Given the description of an element on the screen output the (x, y) to click on. 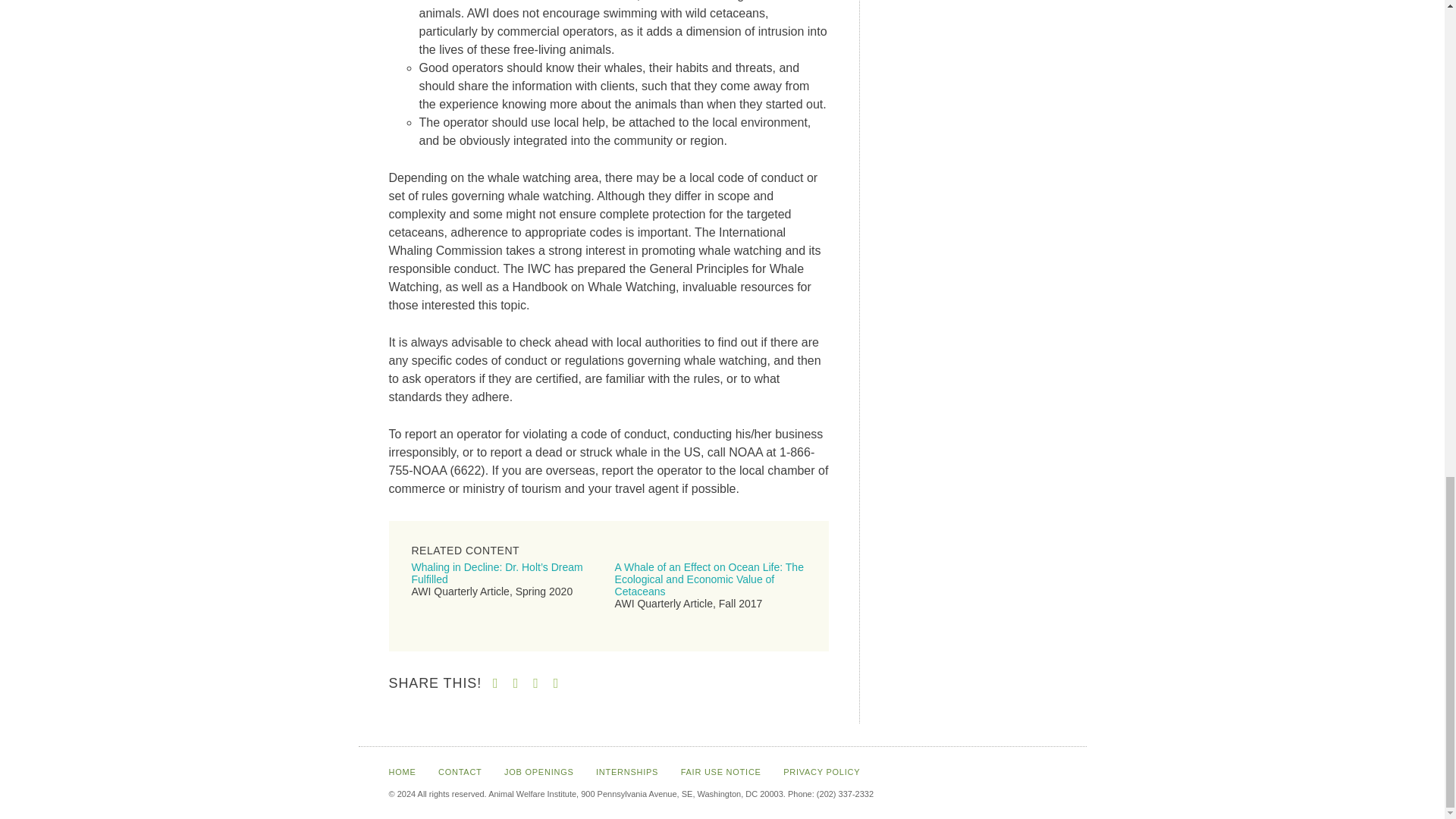
Fair Use Notice (721, 771)
Home (401, 771)
Privacy Policy (821, 771)
